Given the description of an element on the screen output the (x, y) to click on. 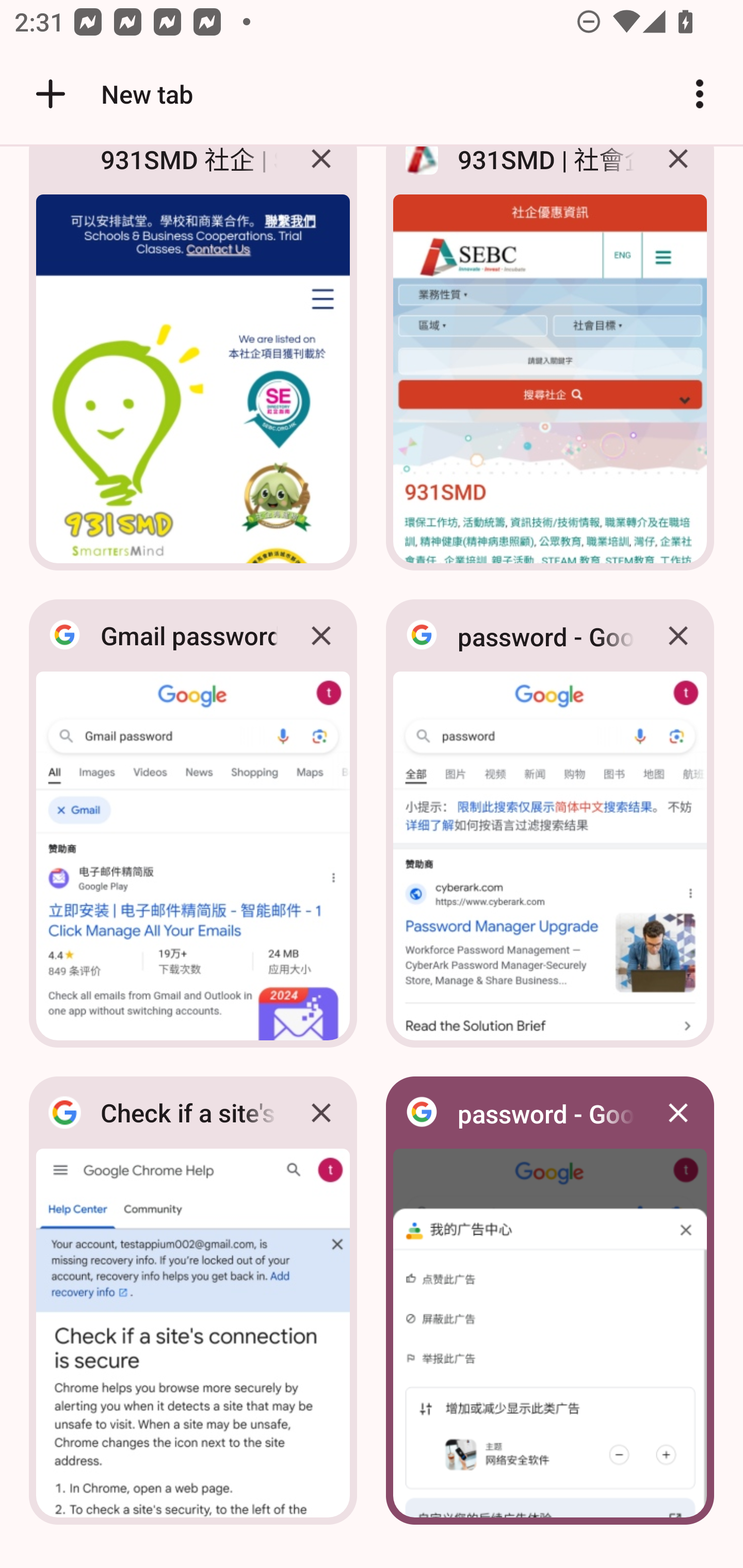
New tab (111, 93)
Customize and control Google Chrome (699, 93)
Close 931SMD | 社會企業商務中心 tab (677, 173)
Close Gmail password tab (320, 635)
Close password - Google 搜索 tab (677, 635)
Close password - Google 搜索 tab (677, 1112)
